Given the description of an element on the screen output the (x, y) to click on. 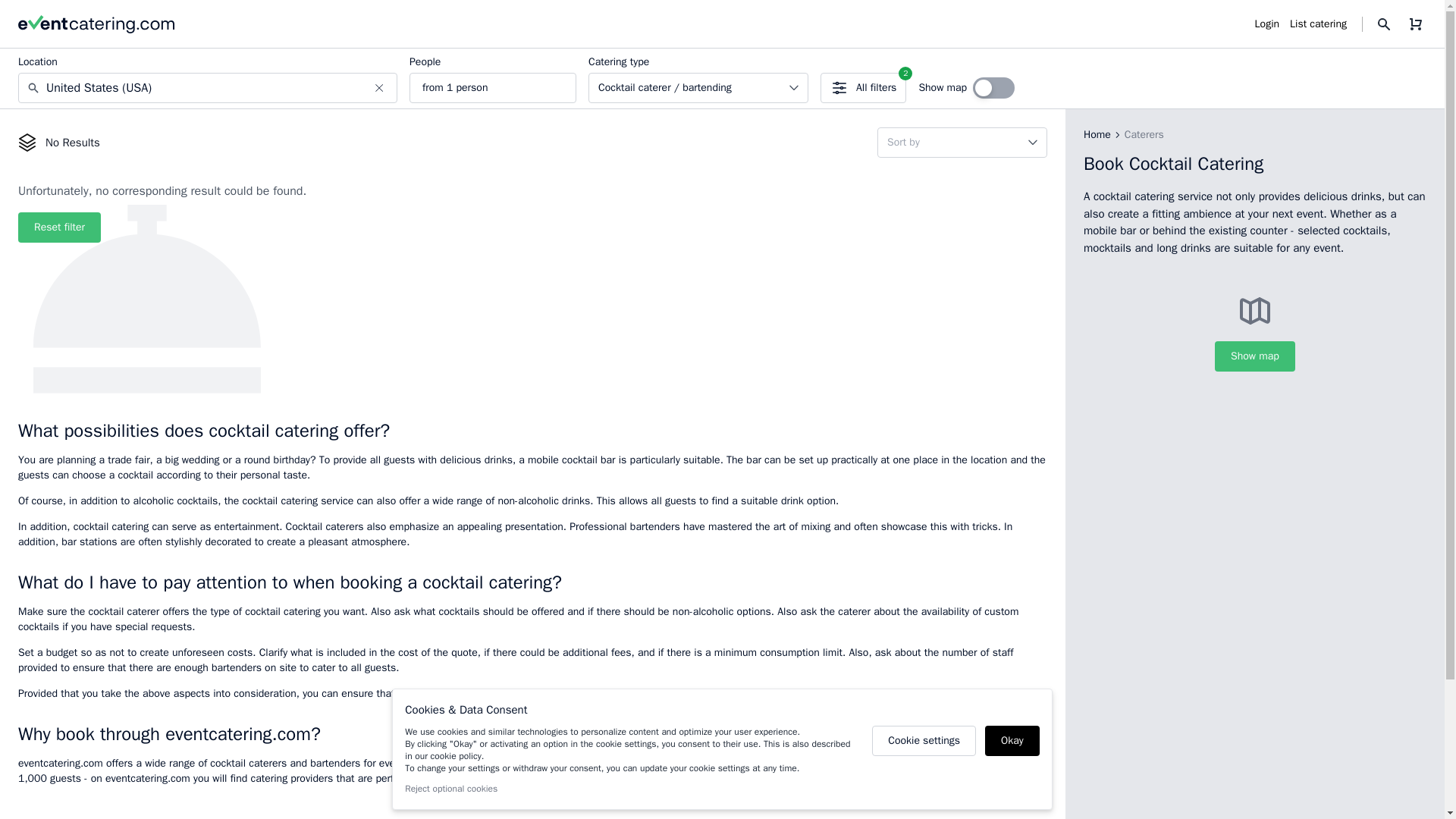
Show map (1254, 356)
Caterers (1143, 134)
Caterers (863, 87)
Cookie settings (1143, 134)
Home (923, 740)
Login (1096, 134)
Reject optional cookies (1267, 23)
Reset filter (450, 788)
Okay (58, 227)
